Given the description of an element on the screen output the (x, y) to click on. 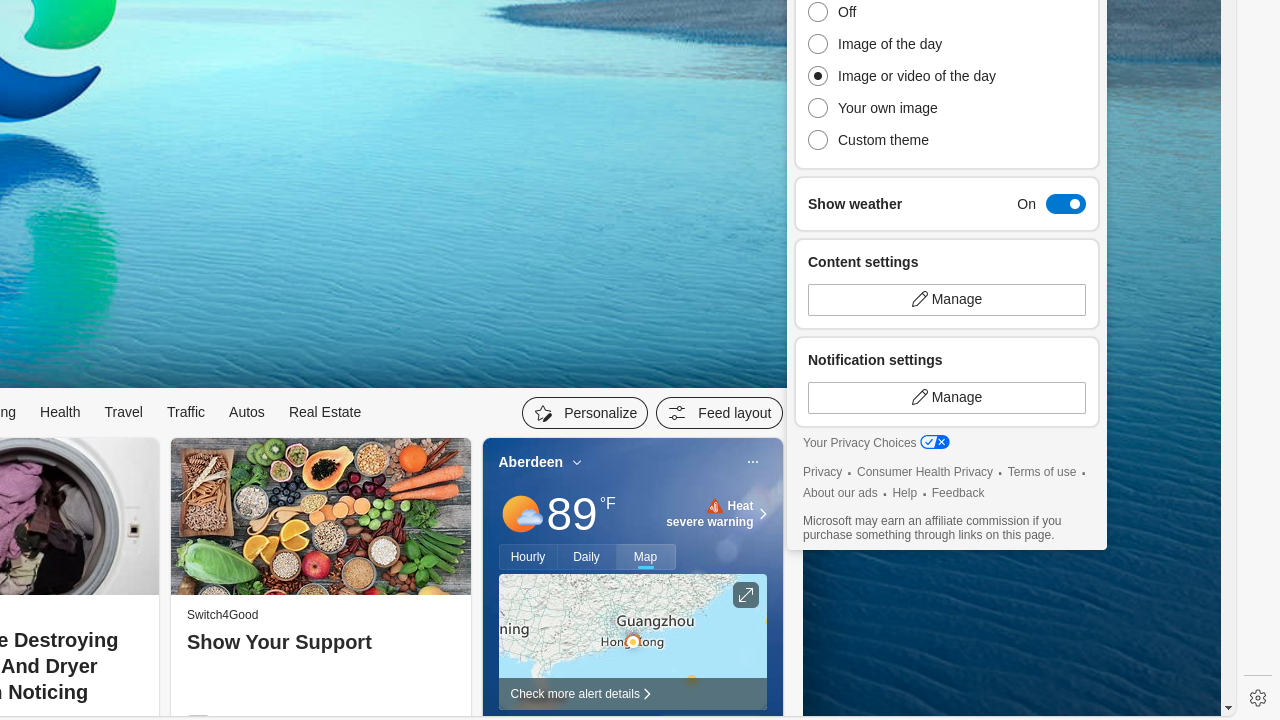
Larger map  Element type: link (632, 642)
Manage Element type: push-button (947, 397)
Real Estate Element type: link (325, 412)
Feed settings Element type: push-button (719, 413)
More options Element type: push-button (752, 462)
